Given the description of an element on the screen output the (x, y) to click on. 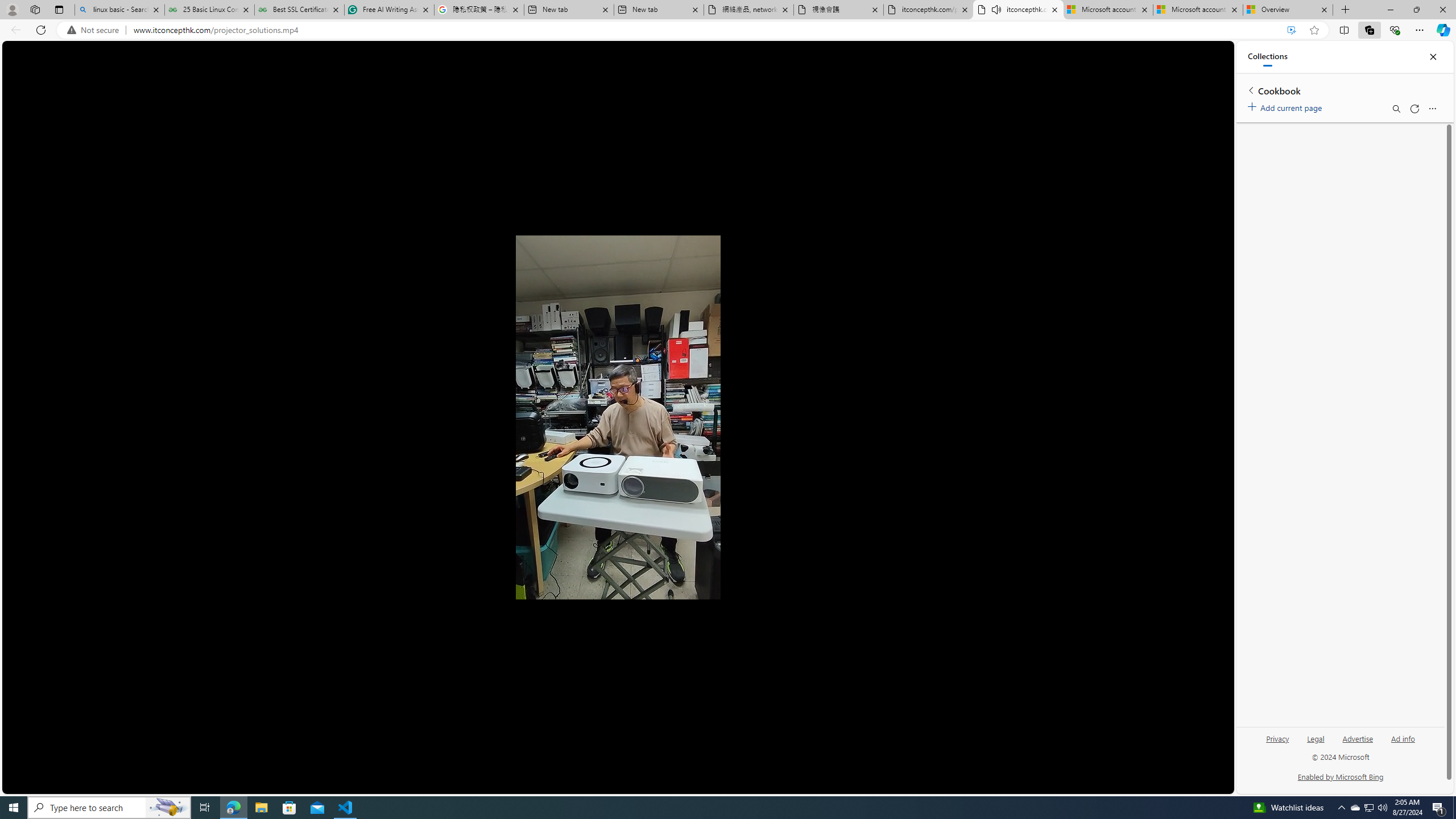
Mute tab (996, 8)
itconcepthk.com/projector_solutions.mp4 - Audio playing (1018, 9)
Enhance video (1291, 29)
Free AI Writing Assistance for Students | Grammarly (389, 9)
